Given the description of an element on the screen output the (x, y) to click on. 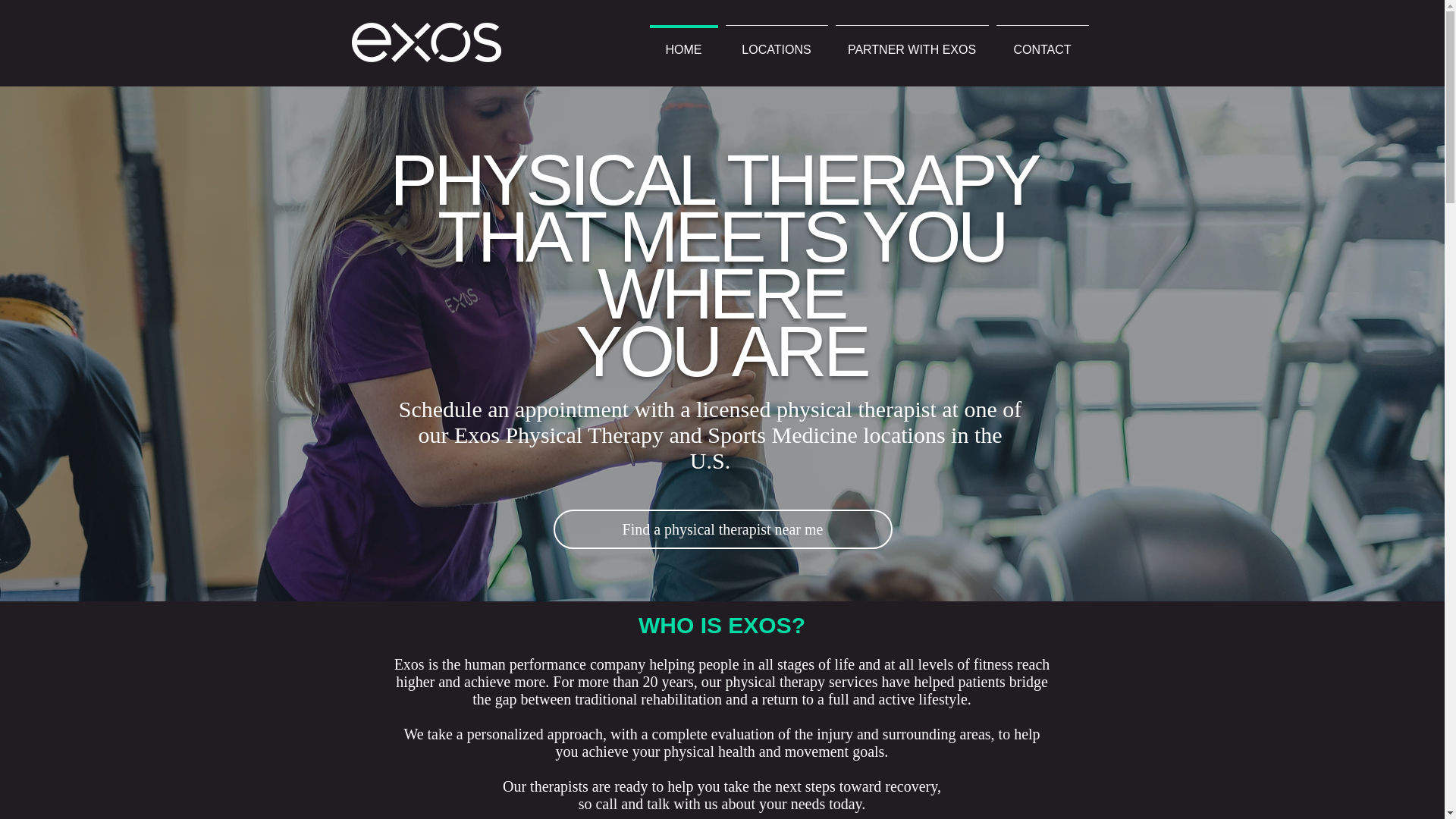
PARTNER WITH EXOS (911, 42)
Find a physical therapist near me (722, 528)
LOCATIONS (776, 42)
CONTACT (1041, 42)
EXOS (426, 42)
HOME (684, 42)
